Given the description of an element on the screen output the (x, y) to click on. 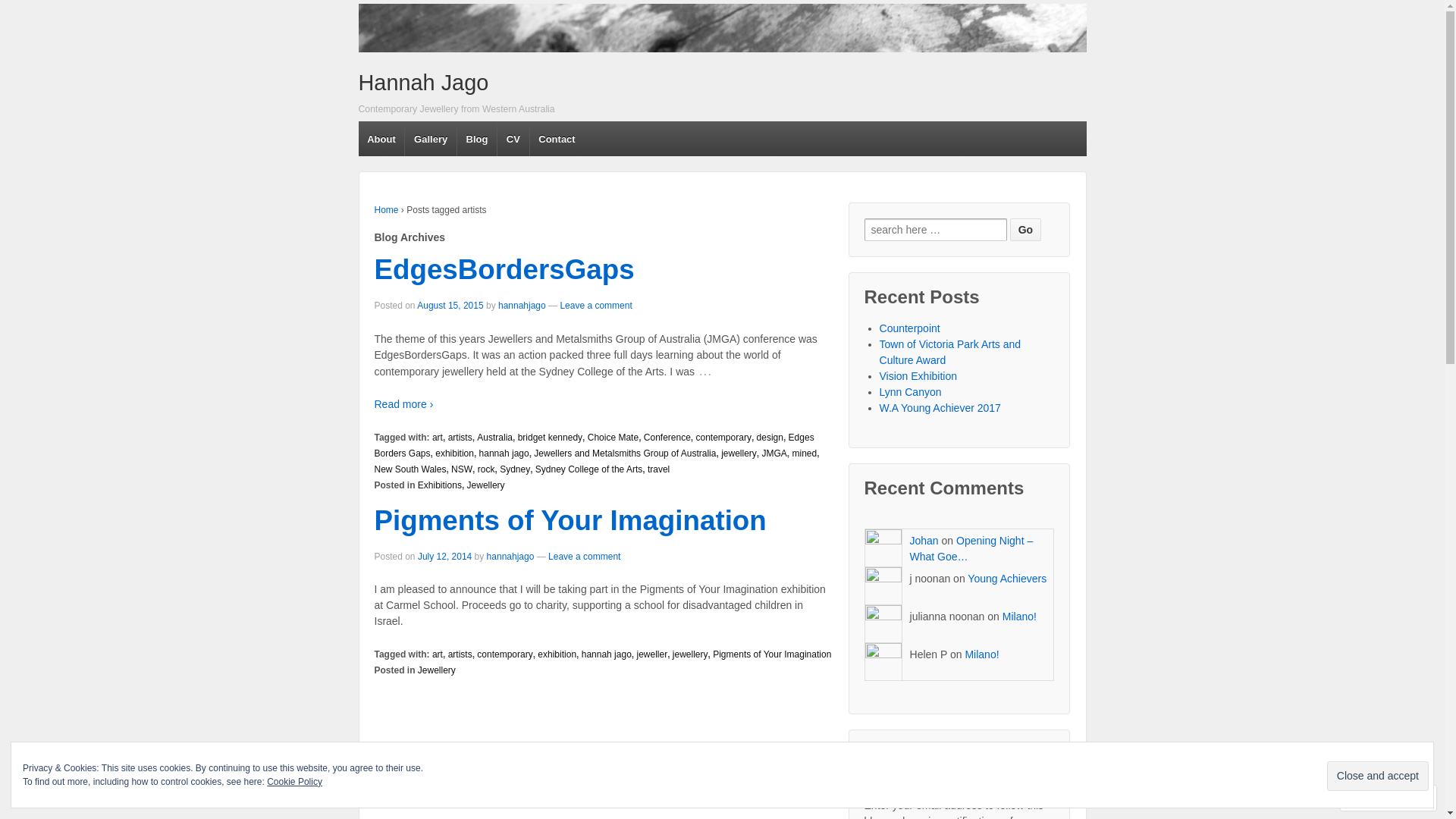
Lynn Canyon Element type: text (910, 391)
mined Element type: text (803, 453)
rock Element type: text (486, 469)
Jewellers and Metalsmiths Group of Australia Element type: text (624, 453)
Follow Element type: text (1374, 797)
New South Wales Element type: text (410, 469)
Leave a comment Element type: text (595, 305)
Hannah Jago Element type: hover (721, 27)
Exhibitions Element type: text (439, 485)
Blog Element type: text (476, 138)
Edges Borders Gaps Element type: text (594, 445)
hannahjago Element type: text (522, 305)
art Element type: text (437, 437)
CV Element type: text (512, 138)
Sydney College of the Arts Element type: text (588, 469)
art Element type: text (437, 654)
Milano! Element type: text (981, 654)
Milano! Element type: text (1019, 616)
hannahjago Element type: text (510, 556)
design Element type: text (769, 437)
Jewellery Element type: text (436, 670)
Conference Element type: text (666, 437)
jewellery Element type: text (738, 453)
Johan Element type: text (924, 540)
Helen P Element type: hover (882, 661)
EdgesBordersGaps Element type: text (504, 269)
Cookie Policy Element type: text (294, 781)
Home Element type: text (386, 209)
July 12, 2014 Element type: text (444, 556)
contemporary Element type: text (504, 654)
artists Element type: text (460, 654)
Sydney Element type: text (514, 469)
hannah jago Element type: text (606, 654)
Vision Exhibition Element type: text (918, 376)
Australia Element type: text (494, 437)
About Element type: text (380, 138)
julianna noonan Element type: hover (882, 624)
jewellery Element type: text (690, 654)
travel Element type: text (658, 469)
contemporary Element type: text (723, 437)
Counterpoint Element type: text (909, 328)
Young Achievers Element type: text (1006, 578)
JMGA Element type: text (773, 453)
Town of Victoria Park Arts and Culture Award Element type: text (950, 352)
Hannah Jago Element type: text (422, 82)
Johan Element type: hover (882, 548)
jeweller Element type: text (651, 654)
Gallery Element type: text (429, 138)
Choice Mate Element type: text (612, 437)
Pigments of Your Imagination Element type: text (771, 654)
exhibition Element type: text (556, 654)
W.A Young Achiever 2017 Element type: text (940, 407)
Close and accept Element type: text (1377, 775)
August 15, 2015 Element type: text (450, 305)
Leave a comment Element type: text (584, 556)
hannah jago Element type: text (504, 453)
artists Element type: text (460, 437)
Contact Element type: text (556, 138)
NSW Element type: text (461, 469)
Skip to content Element type: text (392, 7)
Jewellery Element type: text (486, 485)
j noonan Element type: hover (882, 586)
Go Element type: text (1025, 229)
Pigments of Your Imagination Element type: text (570, 520)
exhibition Element type: text (454, 453)
bridget kennedy Element type: text (549, 437)
